Given the description of an element on the screen output the (x, y) to click on. 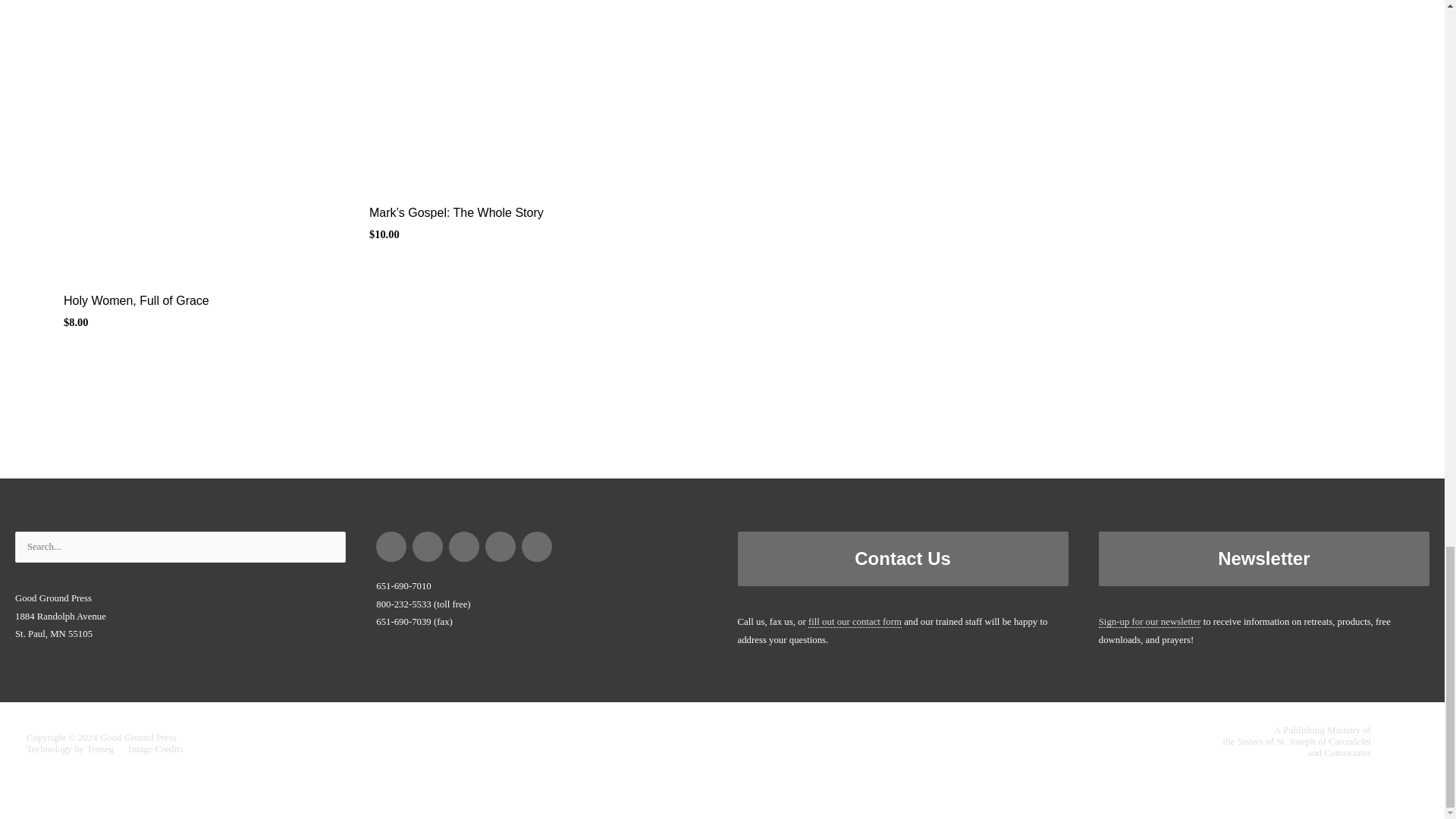
Twitter (500, 546)
Search (328, 550)
Pinterest (427, 546)
RSS (464, 546)
Facebook (391, 546)
Search (328, 550)
YouTube (536, 546)
